Given the description of an element on the screen output the (x, y) to click on. 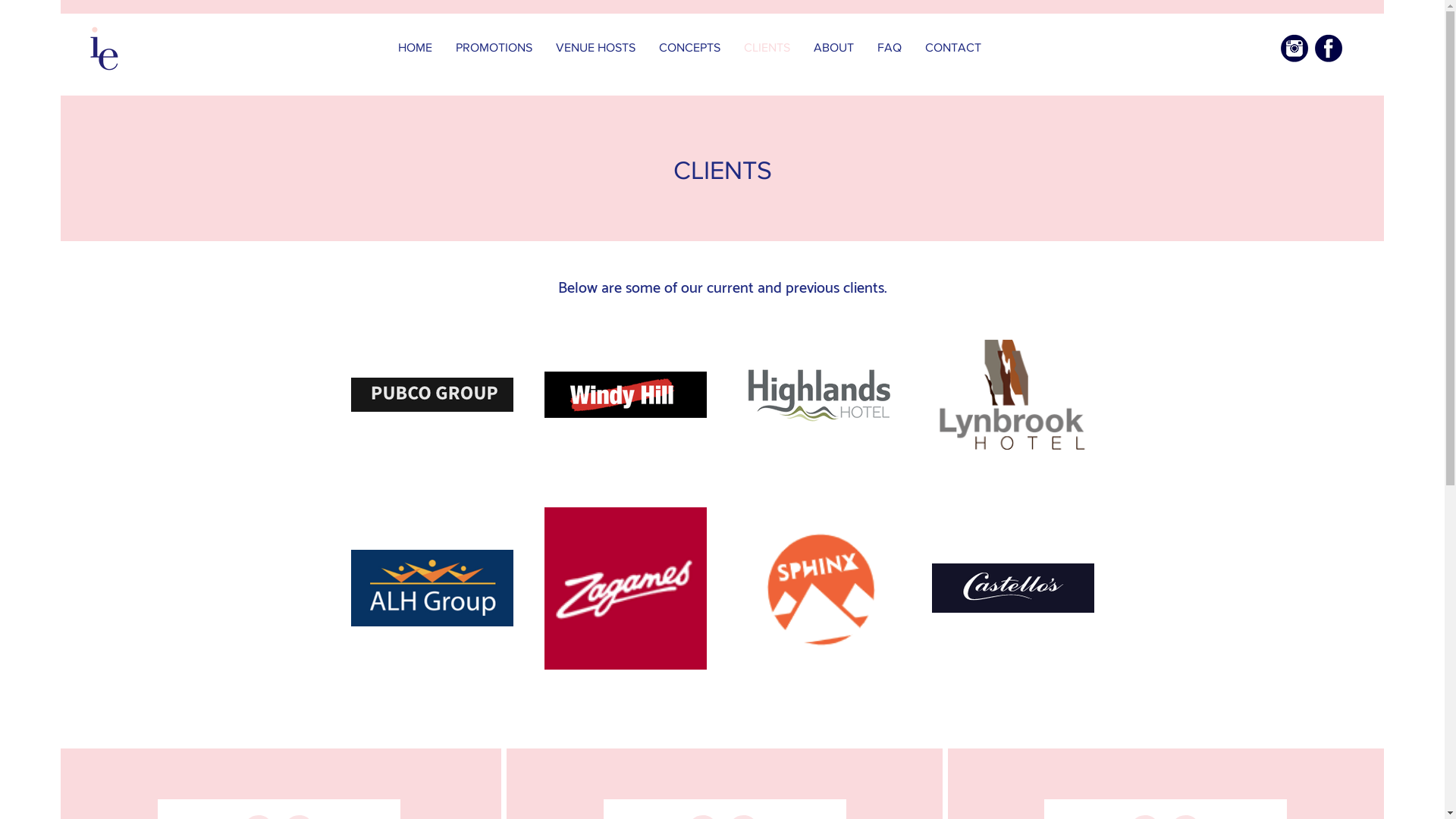
CONTACT Element type: text (953, 47)
CONCEPTS Element type: text (689, 47)
HOME Element type: text (415, 47)
ABOUT Element type: text (834, 47)
PROMOTIONS Element type: text (494, 47)
VENUE HOSTS Element type: text (595, 47)
CLIENTS Element type: text (767, 47)
FAQ Element type: text (889, 47)
